Given the description of an element on the screen output the (x, y) to click on. 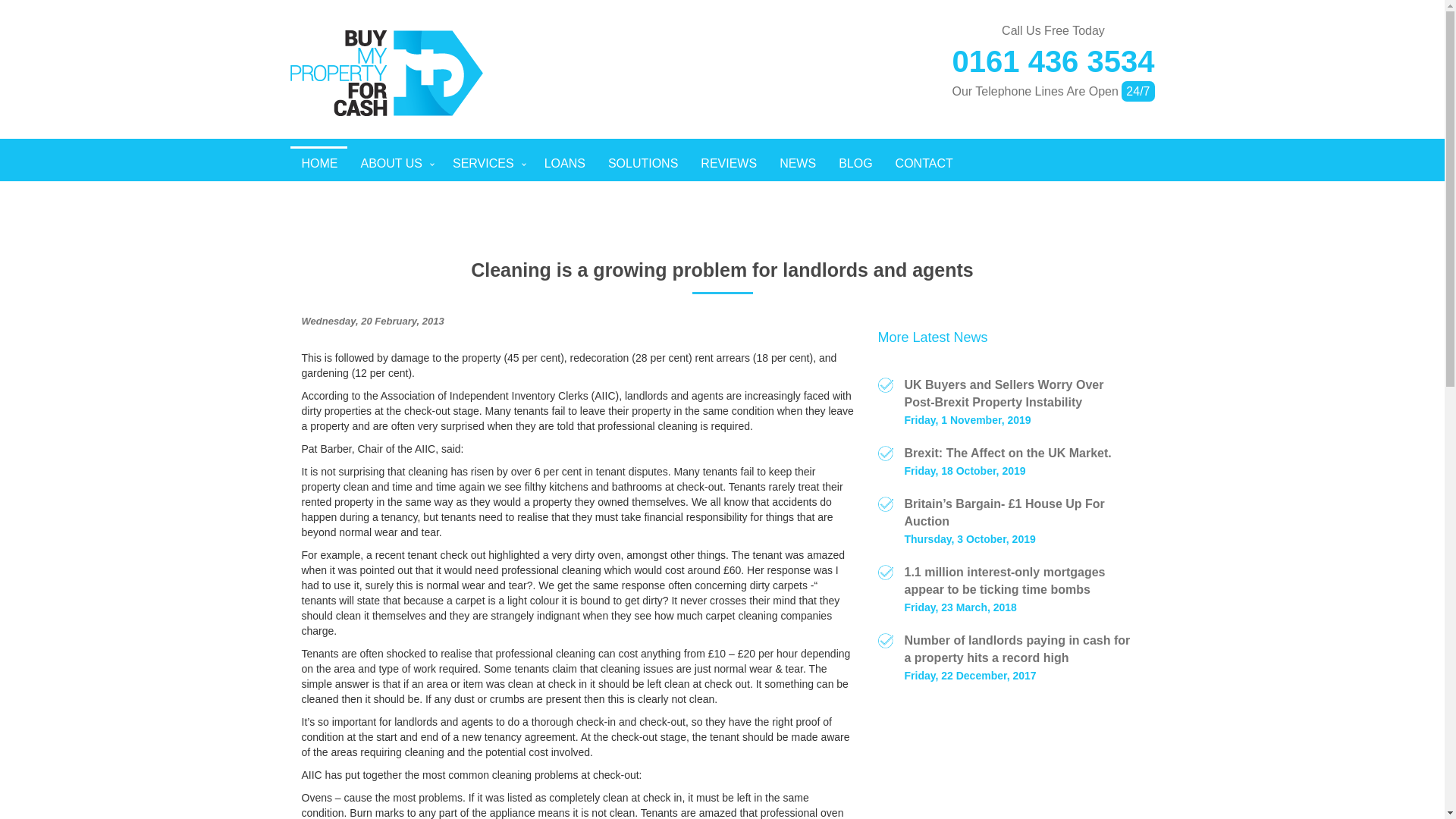
SERVICES (491, 162)
NEWS (797, 163)
SOLUTIONS (642, 163)
CONTACT (923, 163)
LOANS (564, 163)
Buy My Property For Cash (385, 73)
REVIEWS (728, 163)
ABOUT US (257, 128)
BLOG (855, 163)
HOME (157, 122)
